Given the description of an element on the screen output the (x, y) to click on. 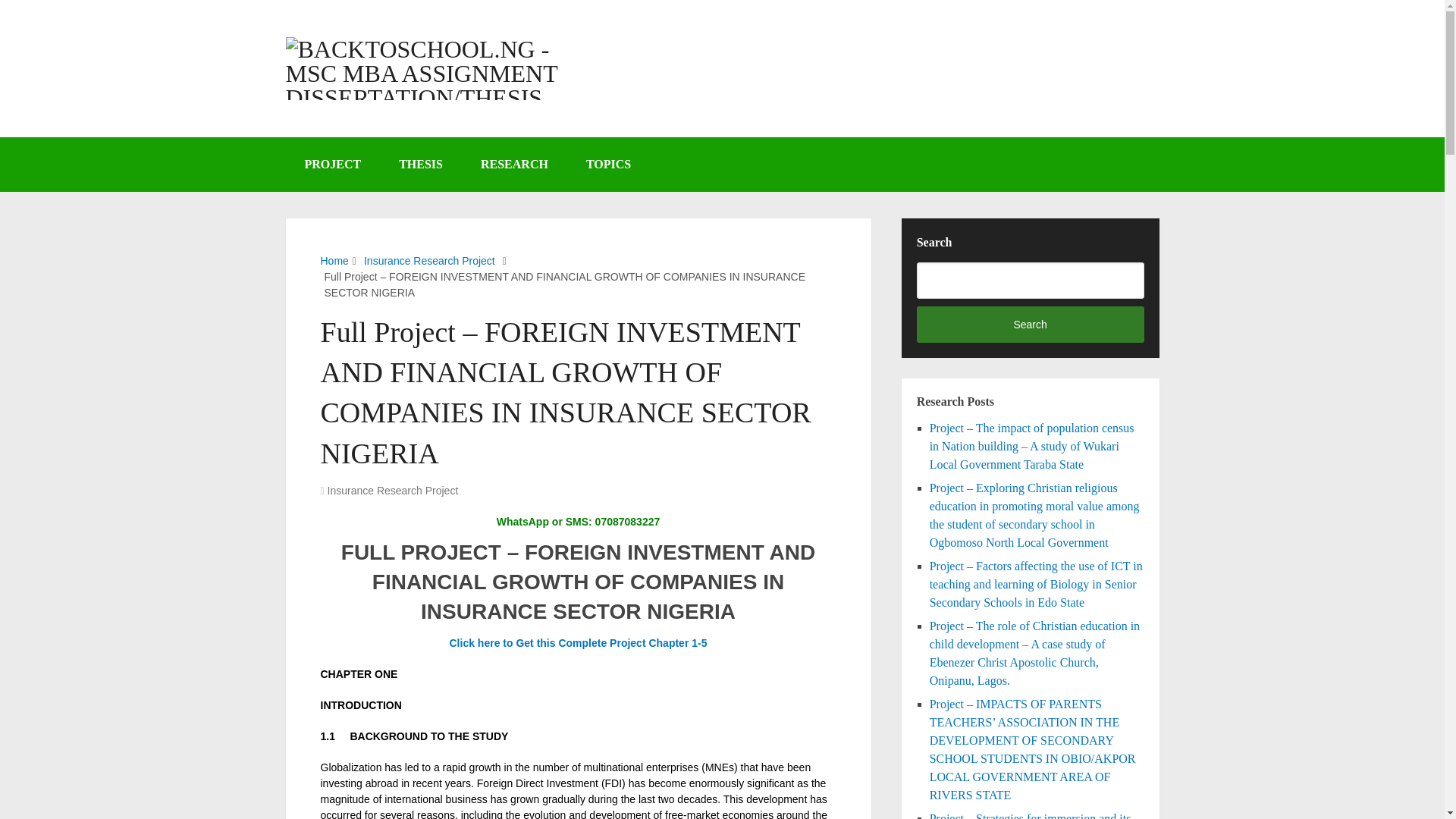
Insurance Research Project (429, 260)
PROJECT (332, 164)
WhatsApp or SMS: 07087083227 (578, 521)
Click here to Get this Complete Project Chapter 1-5 (577, 643)
Home (333, 260)
THESIS (420, 164)
TOPICS (608, 164)
View all posts in Insurance Research Project (392, 490)
RESEARCH (514, 164)
Insurance Research Project (392, 490)
